Given the description of an element on the screen output the (x, y) to click on. 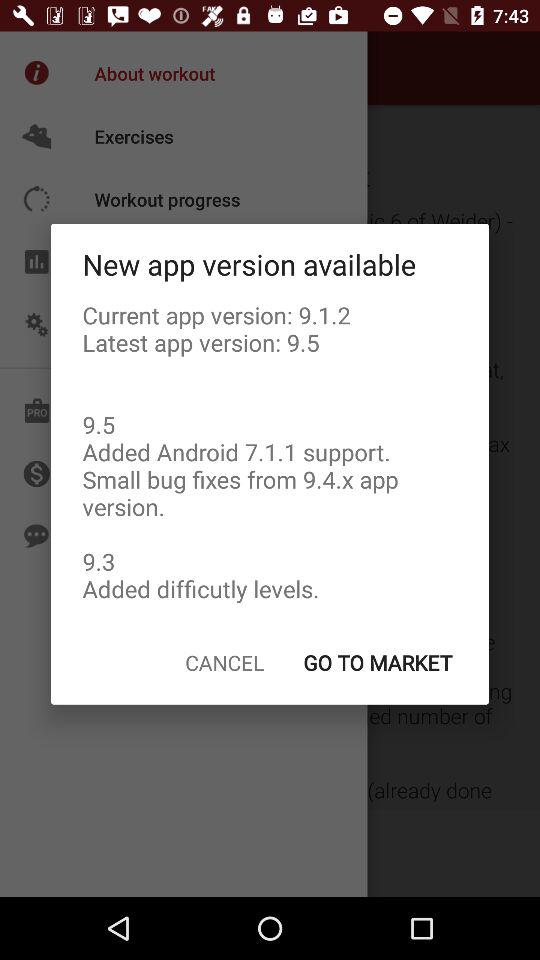
select the icon to the right of cancel icon (377, 662)
